Given the description of an element on the screen output the (x, y) to click on. 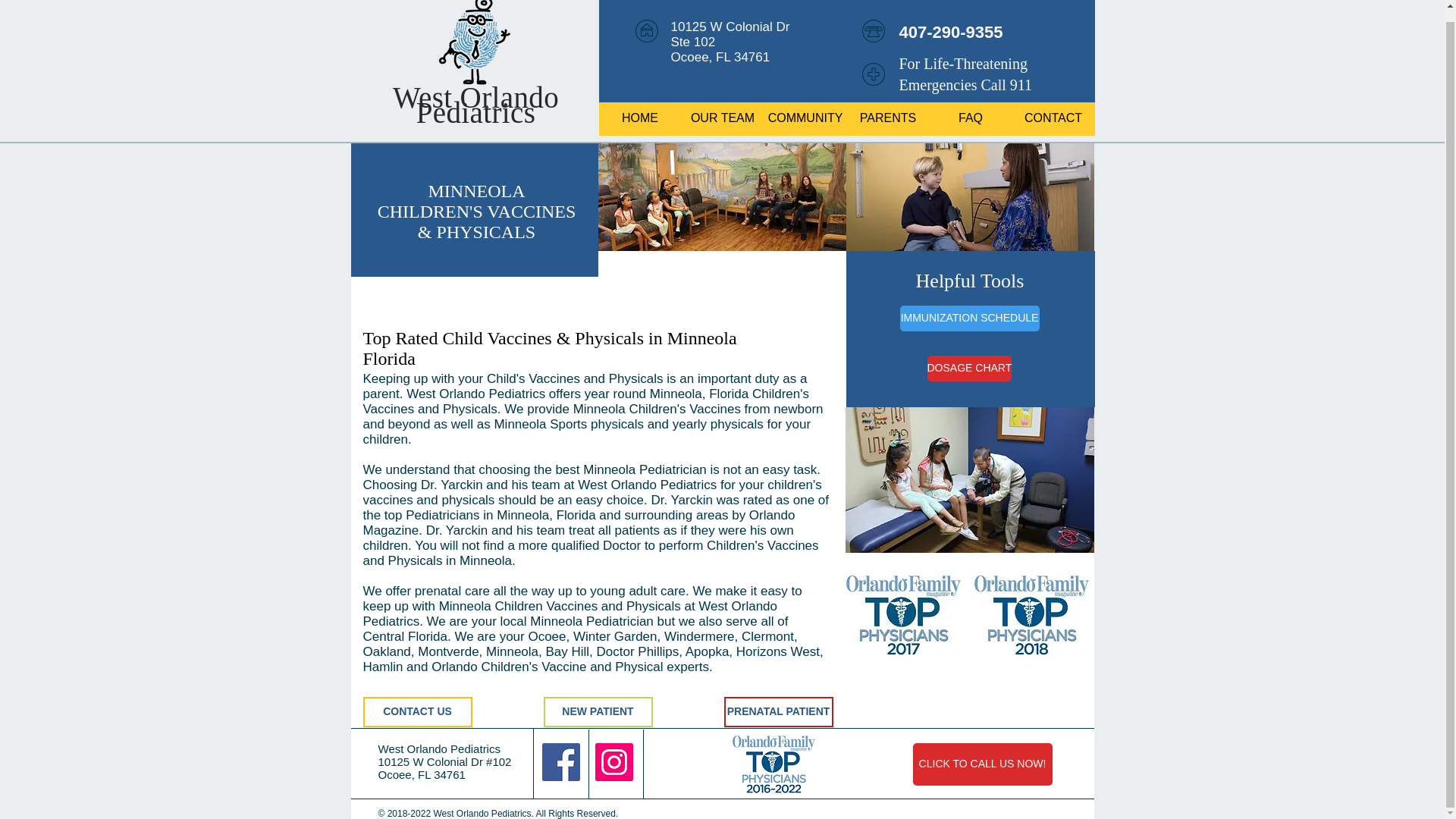
HOME (639, 117)
FAQ (970, 117)
CLICK TO CALL US NOW! (982, 763)
IMMUNIZATION SCHEDULE (969, 318)
OUR TEAM (721, 117)
CONTACT US (416, 711)
407-290-9355 (951, 31)
PRENATAL PATIENT (777, 711)
COMMUNITY (805, 117)
DOSAGE CHART (968, 368)
NEW PATIENT (597, 711)
PARENTS (886, 117)
CONTACT (1052, 117)
